Given the description of an element on the screen output the (x, y) to click on. 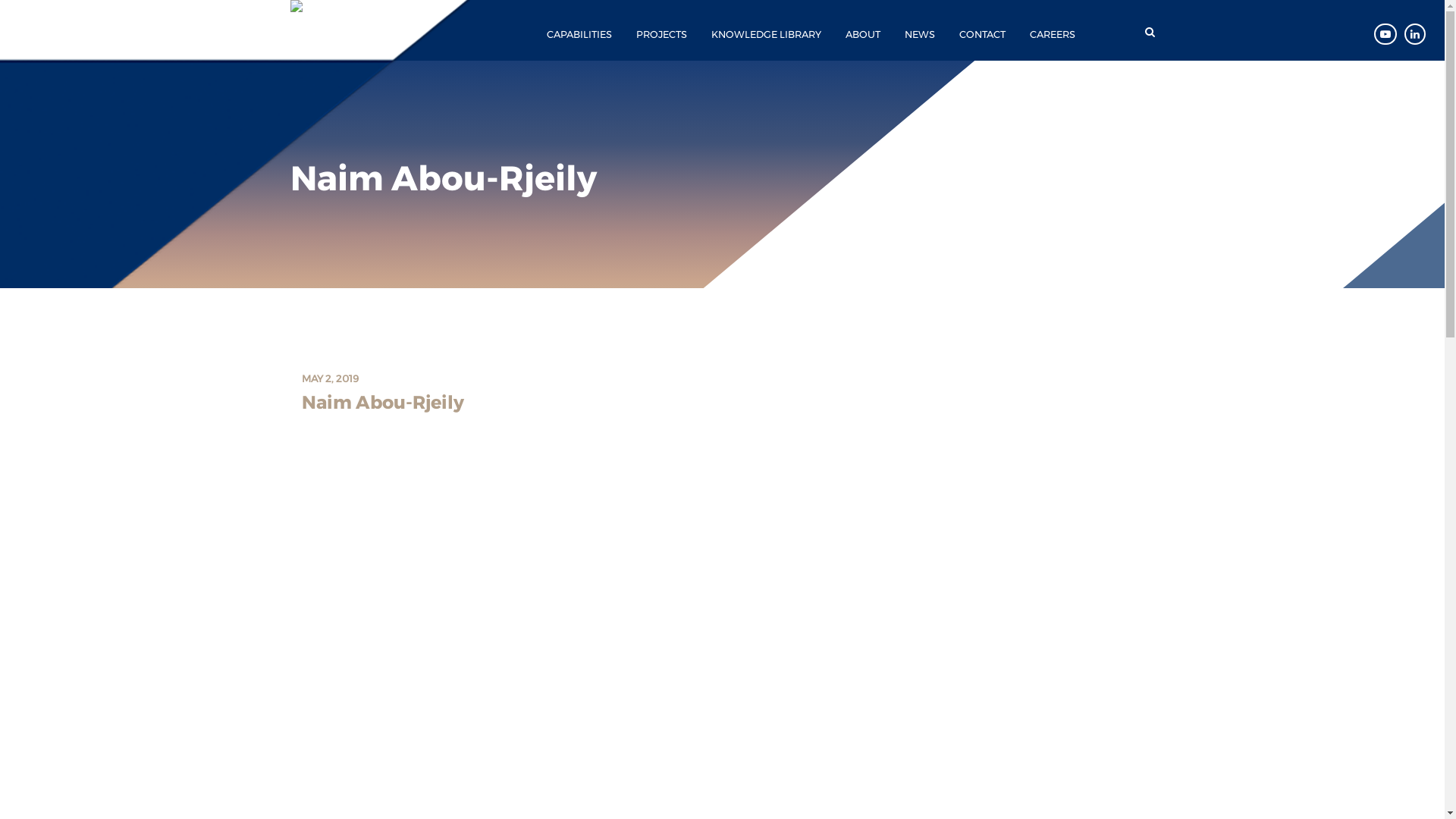
PROJECTS Element type: text (661, 34)
NEWS Element type: text (919, 34)
CAPABILITIES Element type: text (578, 34)
ABOUT Element type: text (862, 34)
KNOWLEDGE LIBRARY Element type: text (766, 34)
CONTACT Element type: text (982, 34)
CAREERS Element type: text (1052, 34)
